Given the description of an element on the screen output the (x, y) to click on. 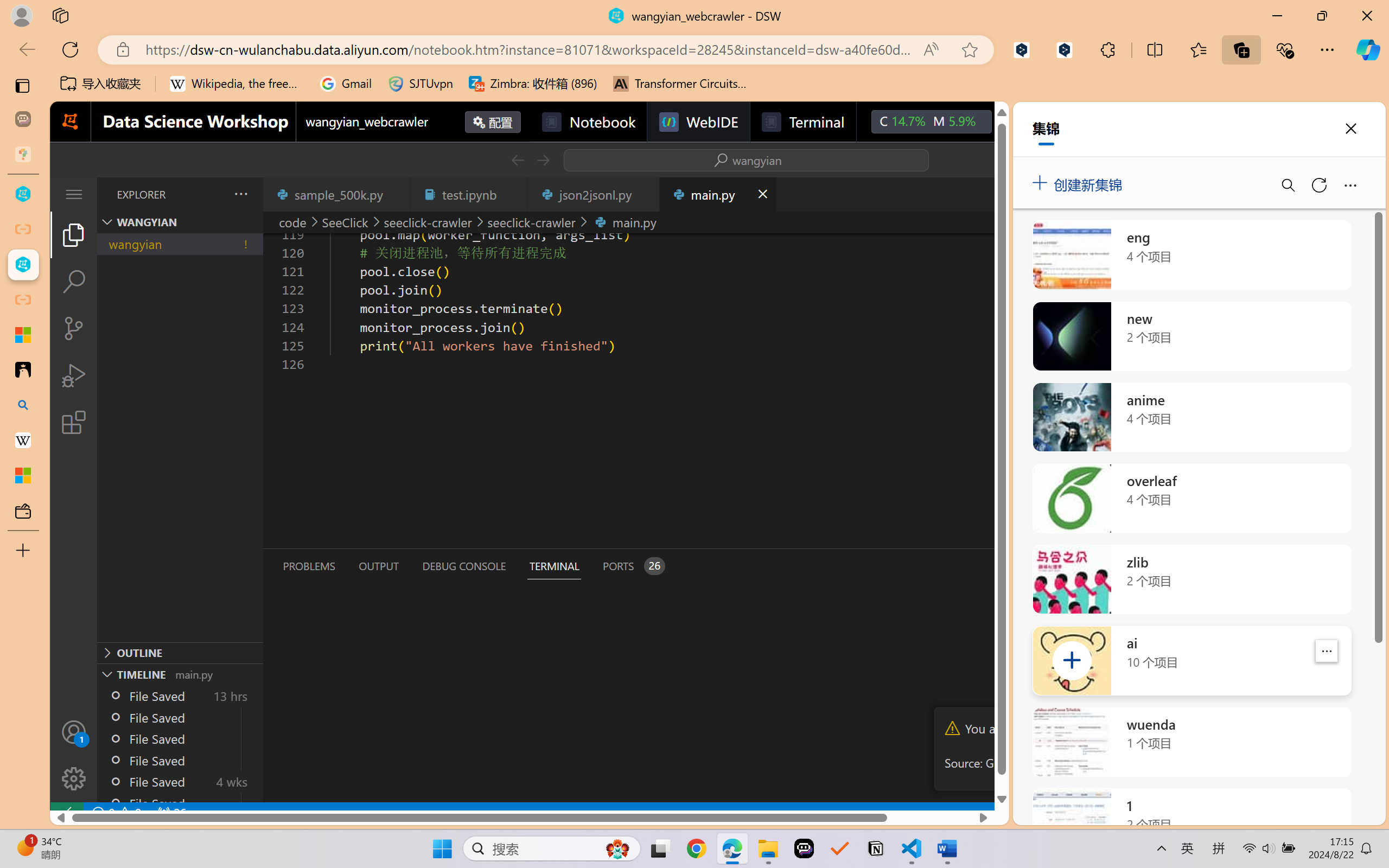
icon (1015, 121)
Wikipedia, the free encyclopedia (236, 83)
Class: next-menu next-hoz widgets--iconMenu--BFkiHRM (1015, 121)
Explorer (Ctrl+Shift+E) (73, 234)
Tab actions (762, 194)
